Given the description of an element on the screen output the (x, y) to click on. 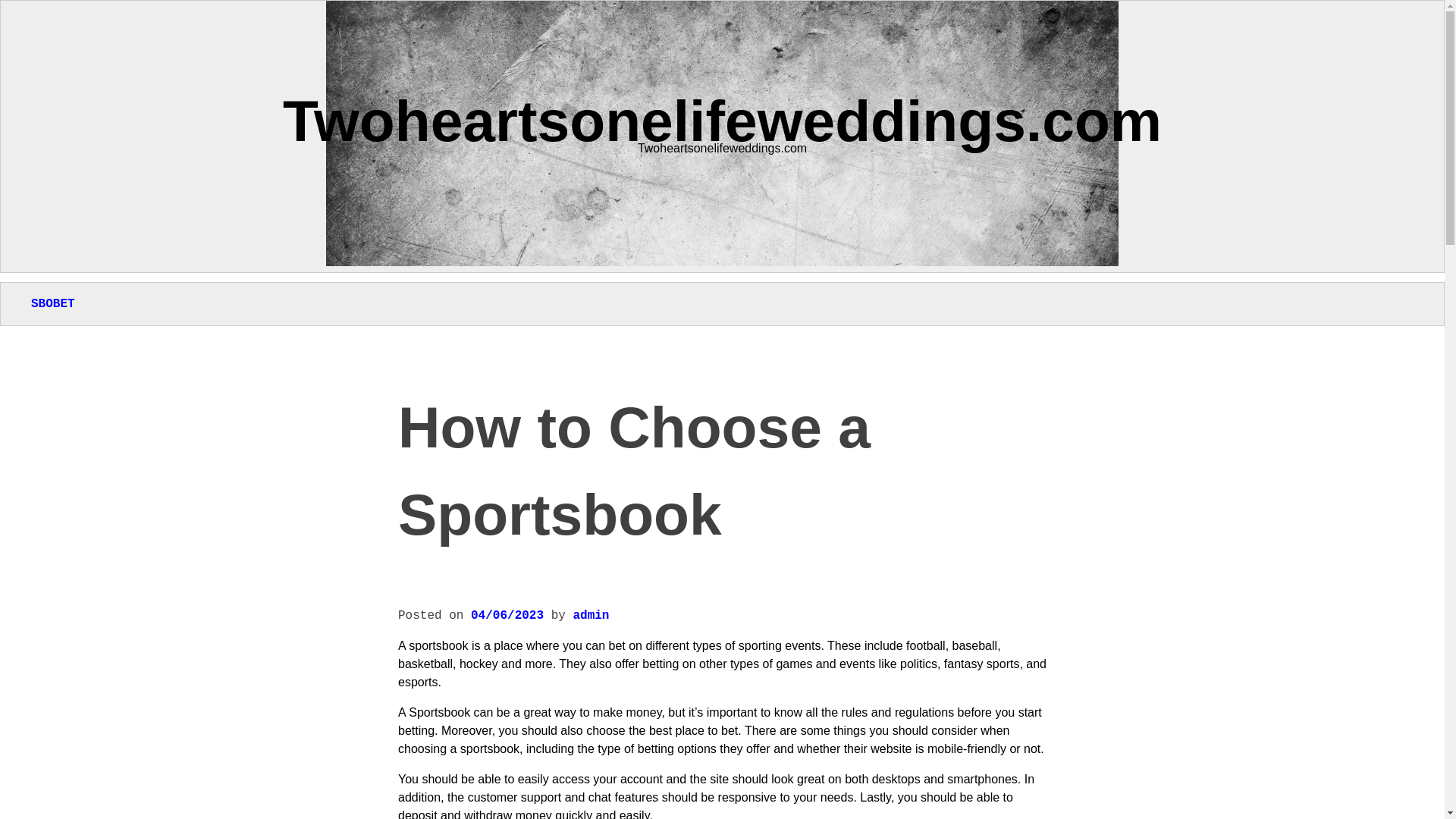
SBOBET (52, 304)
admin (590, 615)
Twoheartsonelifeweddings.com (721, 120)
